Given the description of an element on the screen output the (x, y) to click on. 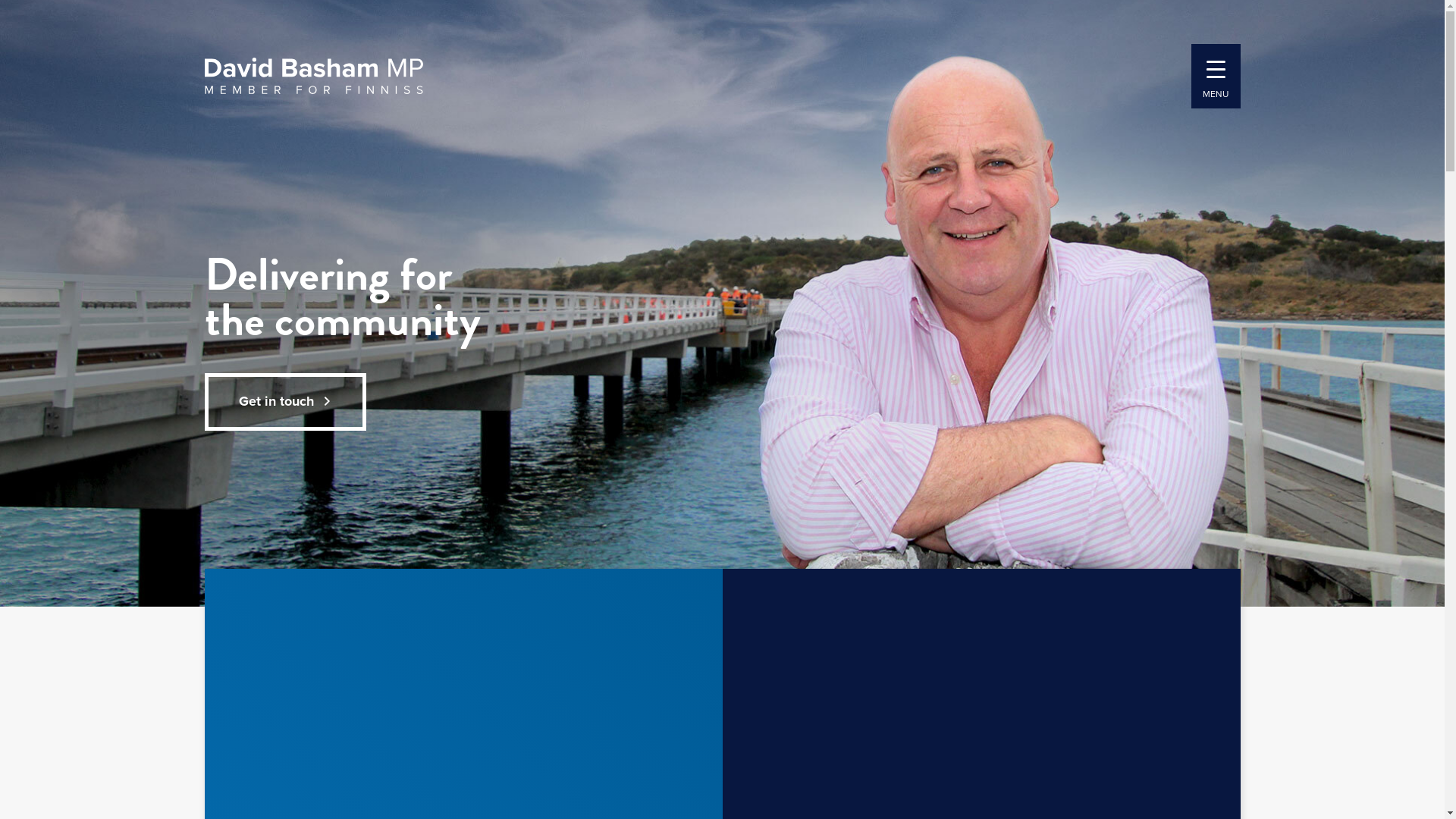
MENU Element type: text (1214, 75)
Get in touch Element type: text (285, 401)
